Given the description of an element on the screen output the (x, y) to click on. 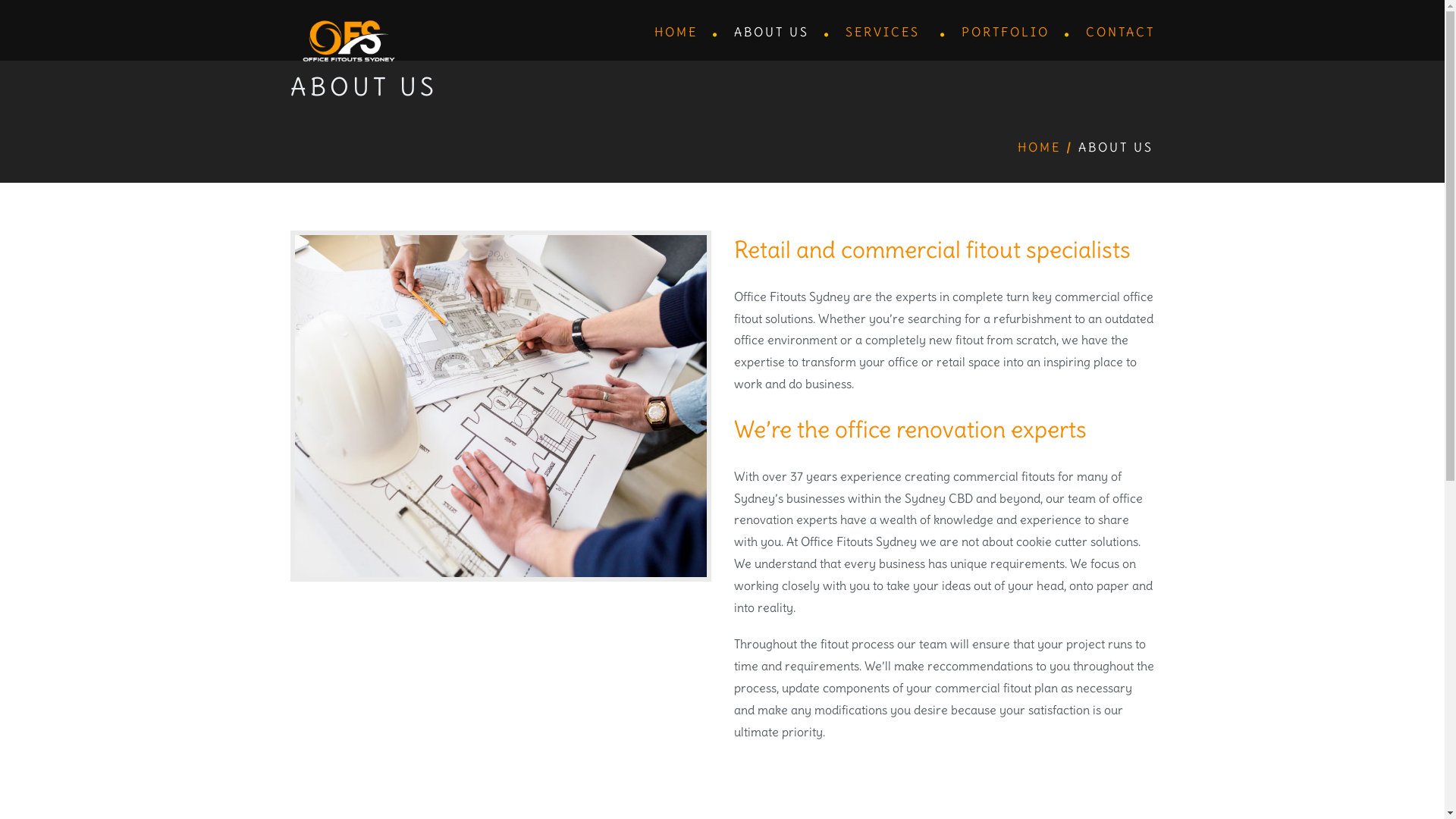
SERVICES Element type: text (887, 33)
PORTFOLIO Element type: text (1008, 33)
HOME Element type: text (678, 33)
HOME Element type: text (1038, 146)
CONTACT Element type: text (1112, 32)
ABOUT US Element type: text (774, 33)
